Given the description of an element on the screen output the (x, y) to click on. 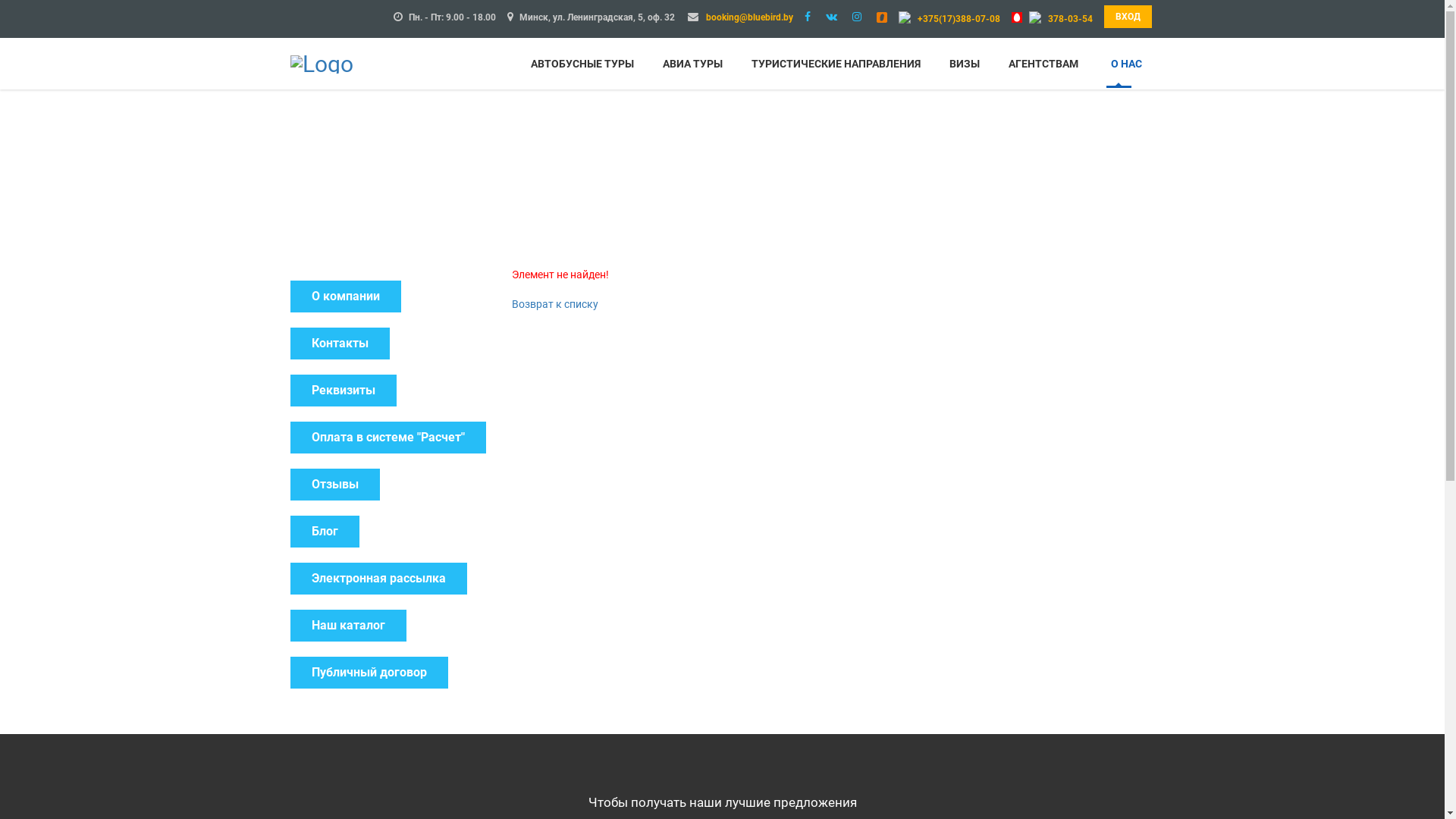
Travel Element type: hover (320, 62)
+375(17)388-07-08 Element type: text (958, 18)
378-03-54 Element type: text (1070, 18)
booking@bluebird.by Element type: text (748, 17)
